Given the description of an element on the screen output the (x, y) to click on. 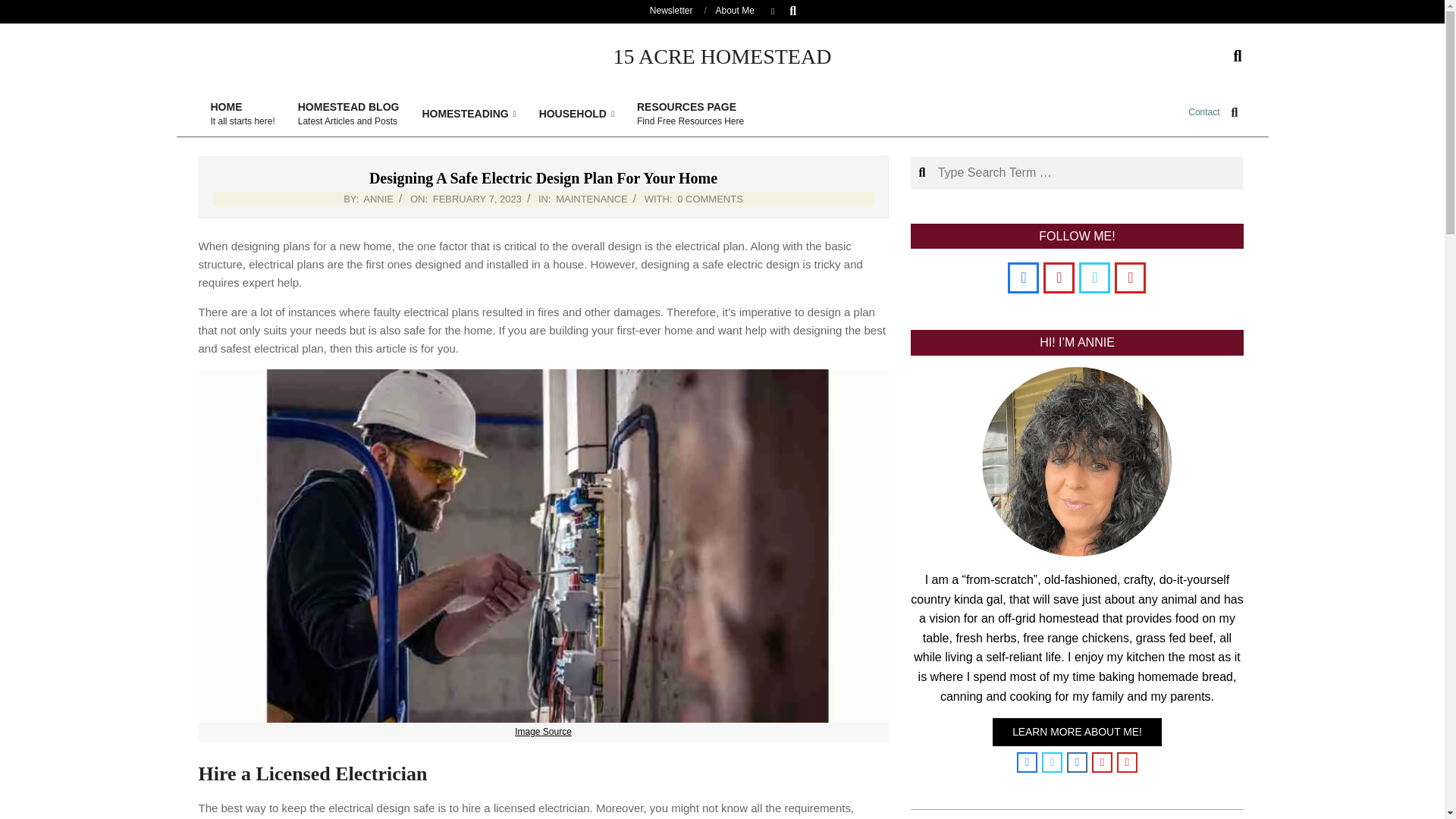
About Me (735, 9)
0 COMMENTS (241, 113)
ANNIE (709, 198)
Search (377, 198)
HOMESTEADING (24, 9)
HOUSEHOLD (468, 113)
Tuesday, February 7, 2023, 11:12 am (576, 113)
Contact (476, 198)
Image Source (348, 113)
Posts by Annie (1204, 112)
15 ACRE HOMESTEAD (543, 731)
MAINTENANCE (377, 198)
